Given the description of an element on the screen output the (x, y) to click on. 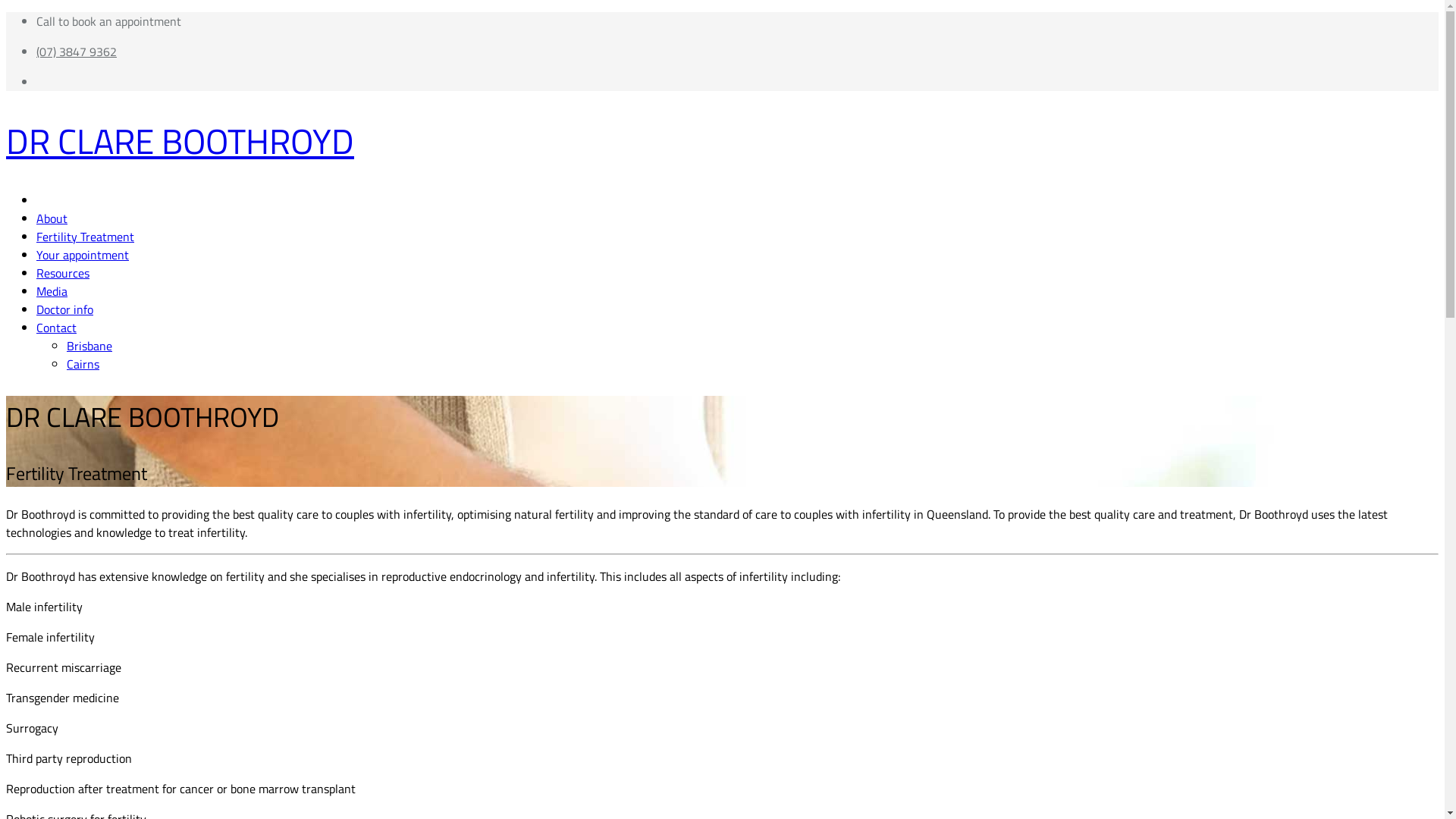
Fertility Treatment Element type: text (85, 236)
(07) 3847 9362 Element type: text (453, 51)
Contact Element type: text (56, 327)
Doctor info Element type: text (64, 309)
Media Element type: text (51, 291)
Your appointment Element type: text (82, 254)
Brisbane Element type: text (89, 345)
Resources Element type: text (62, 272)
Cairns Element type: text (82, 363)
About Element type: text (51, 218)
DR CLARE BOOTHROYD Element type: text (438, 140)
